Given the description of an element on the screen output the (x, y) to click on. 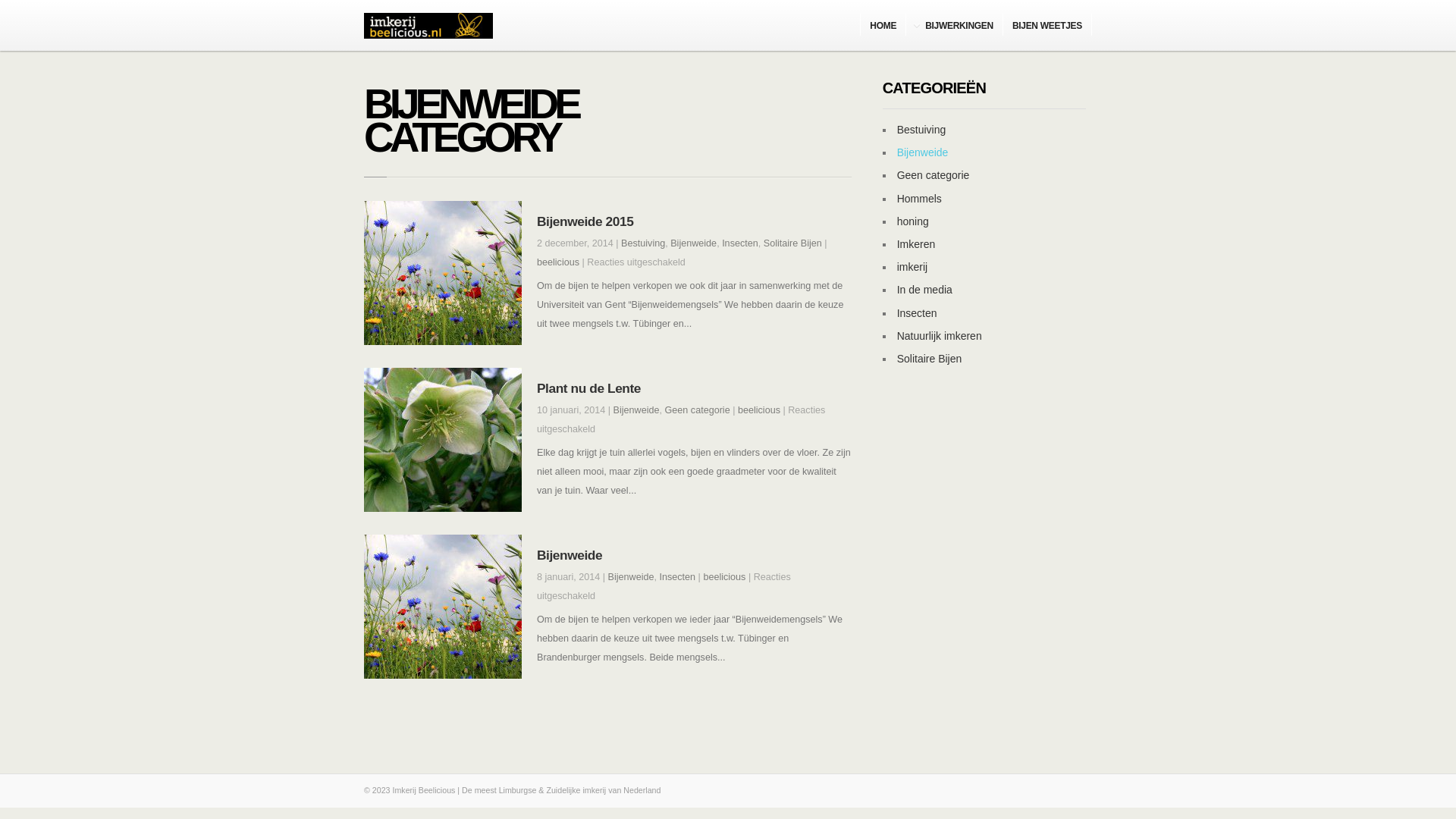
Geen categorie Element type: text (697, 409)
Bijenweide Element type: text (636, 409)
Plant nu de Lente Element type: text (588, 387)
beelicious Element type: text (758, 409)
Bijenweide Element type: text (693, 243)
Natuurlijk imkeren Element type: text (939, 335)
beelicious Element type: text (557, 262)
Hommels Element type: text (919, 198)
In de media Element type: text (924, 289)
Insecten Element type: text (917, 312)
BIJEN WEETJES Element type: text (1047, 24)
Solitaire Bijen Element type: text (929, 358)
Insecten Element type: text (677, 576)
Bijenweide Element type: text (922, 152)
Bestuiving Element type: text (643, 243)
Bijenweide 2015 Element type: text (584, 221)
BIJWERKINGEN Element type: text (954, 24)
Imkeren Element type: text (916, 244)
Bijenweide Element type: text (569, 554)
imkerij Element type: text (912, 266)
Solitaire Bijen Element type: text (792, 243)
Insecten Element type: text (739, 243)
HOME Element type: text (882, 24)
Bestuiving Element type: text (921, 129)
honing Element type: text (912, 221)
beelicious Element type: text (723, 576)
Geen categorie Element type: text (933, 175)
Bijenweide Element type: text (631, 576)
